Given the description of an element on the screen output the (x, y) to click on. 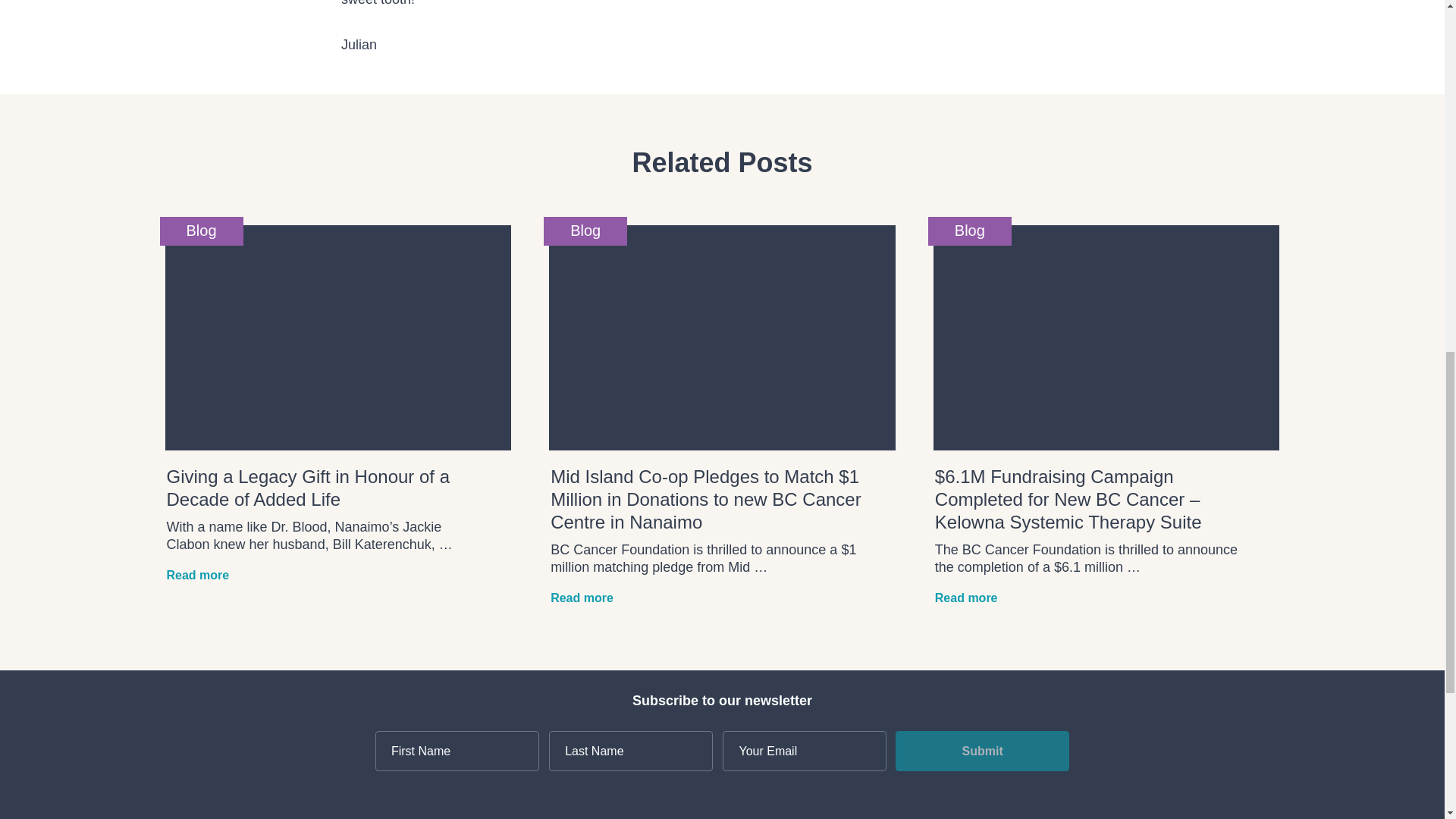
Submit (981, 751)
